Given the description of an element on the screen output the (x, y) to click on. 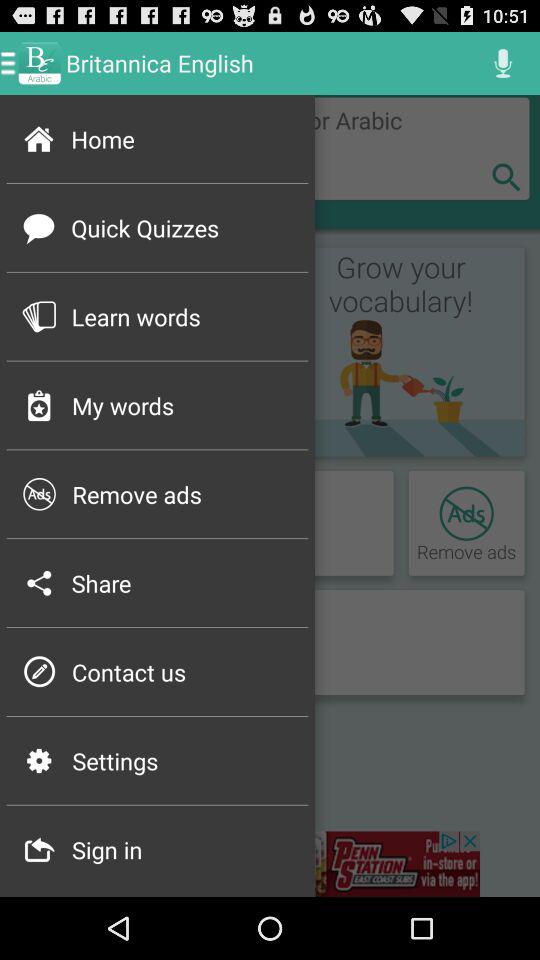
sign in option (270, 864)
